Given the description of an element on the screen output the (x, y) to click on. 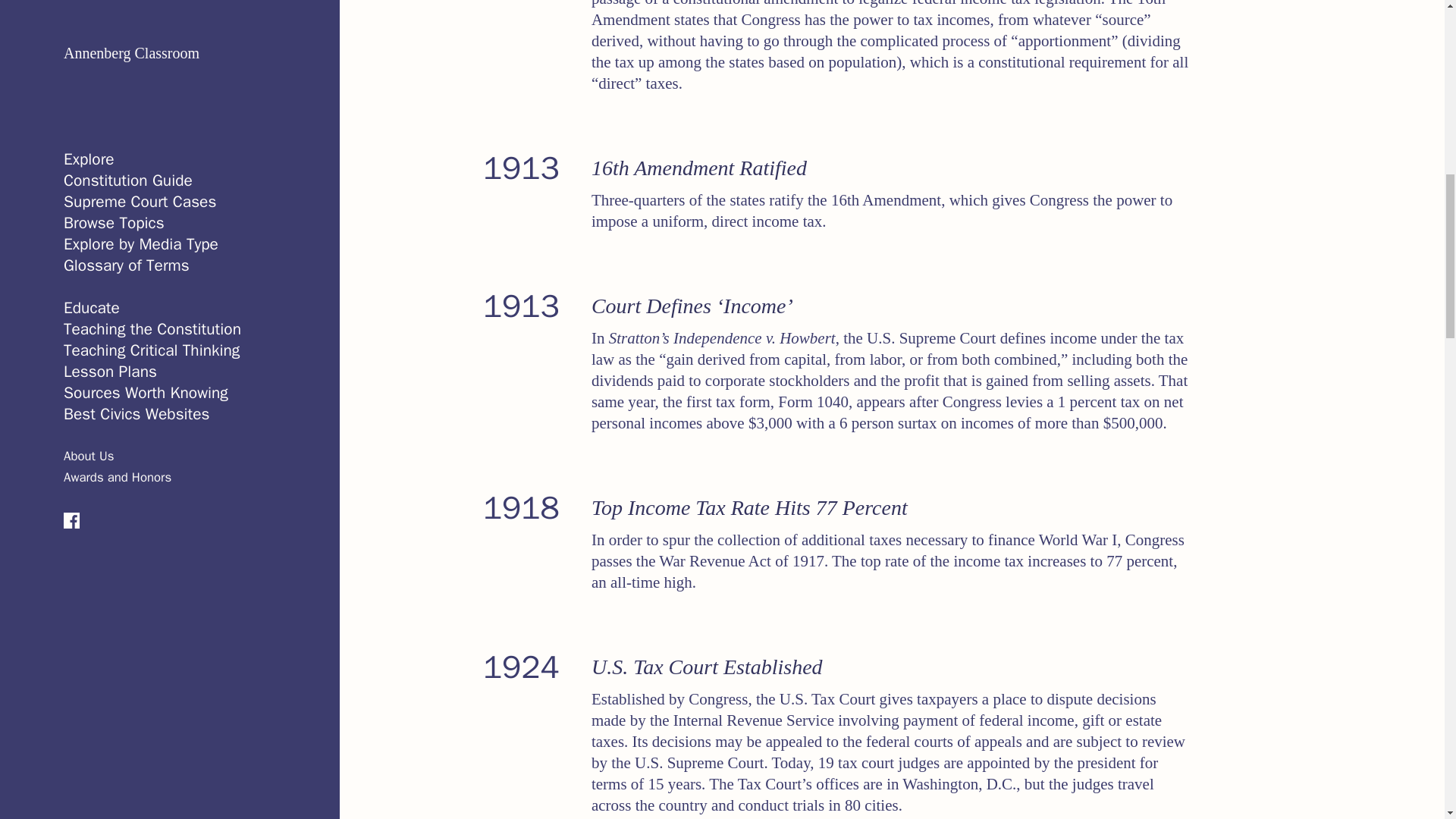
U.S. Tax Court Established (706, 666)
Top Income Tax Rate Hits 77 Percent (749, 507)
16th Amendment Ratified (698, 167)
